Given the description of an element on the screen output the (x, y) to click on. 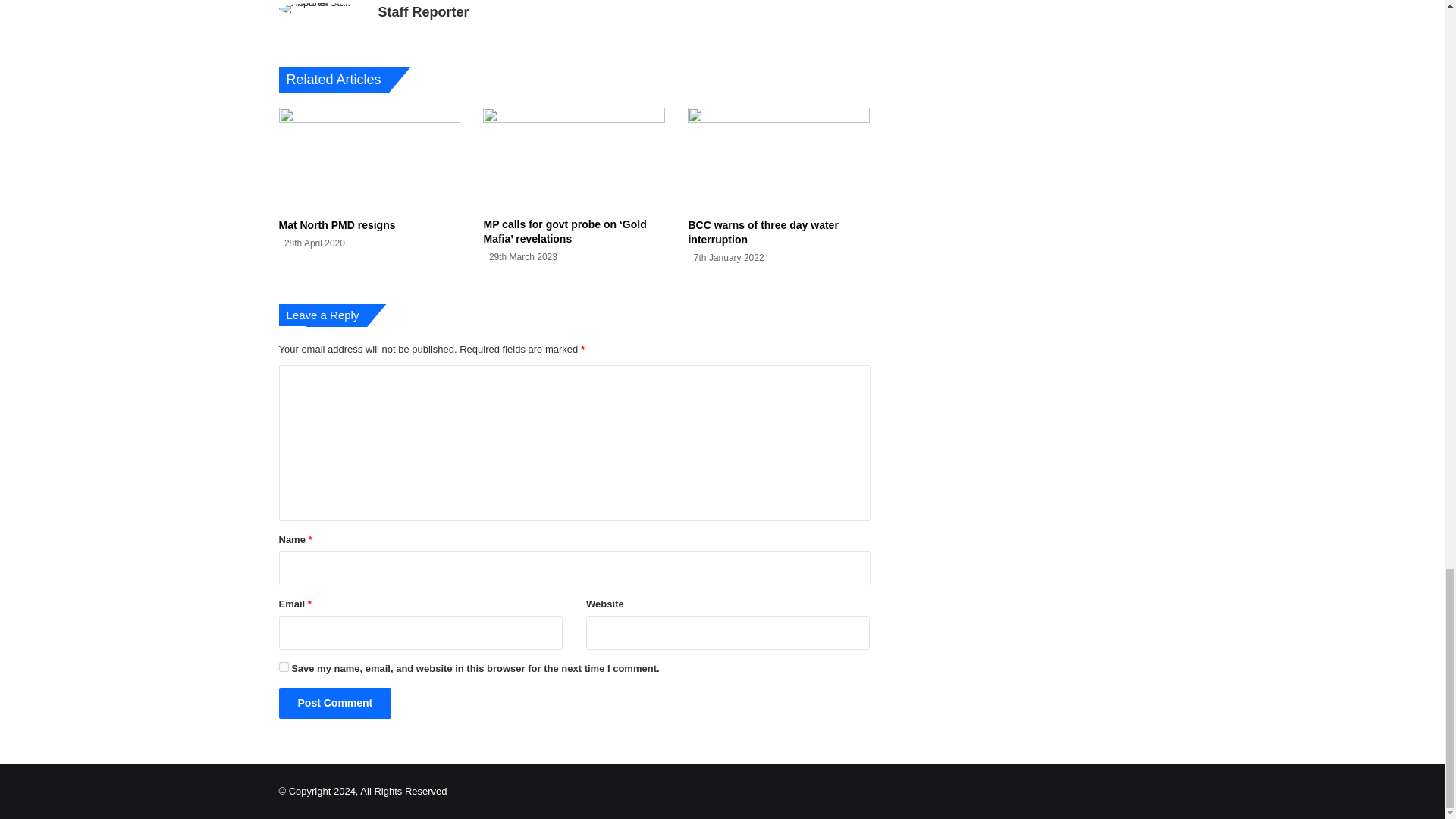
Post Comment (335, 703)
yes (283, 666)
